Given the description of an element on the screen output the (x, y) to click on. 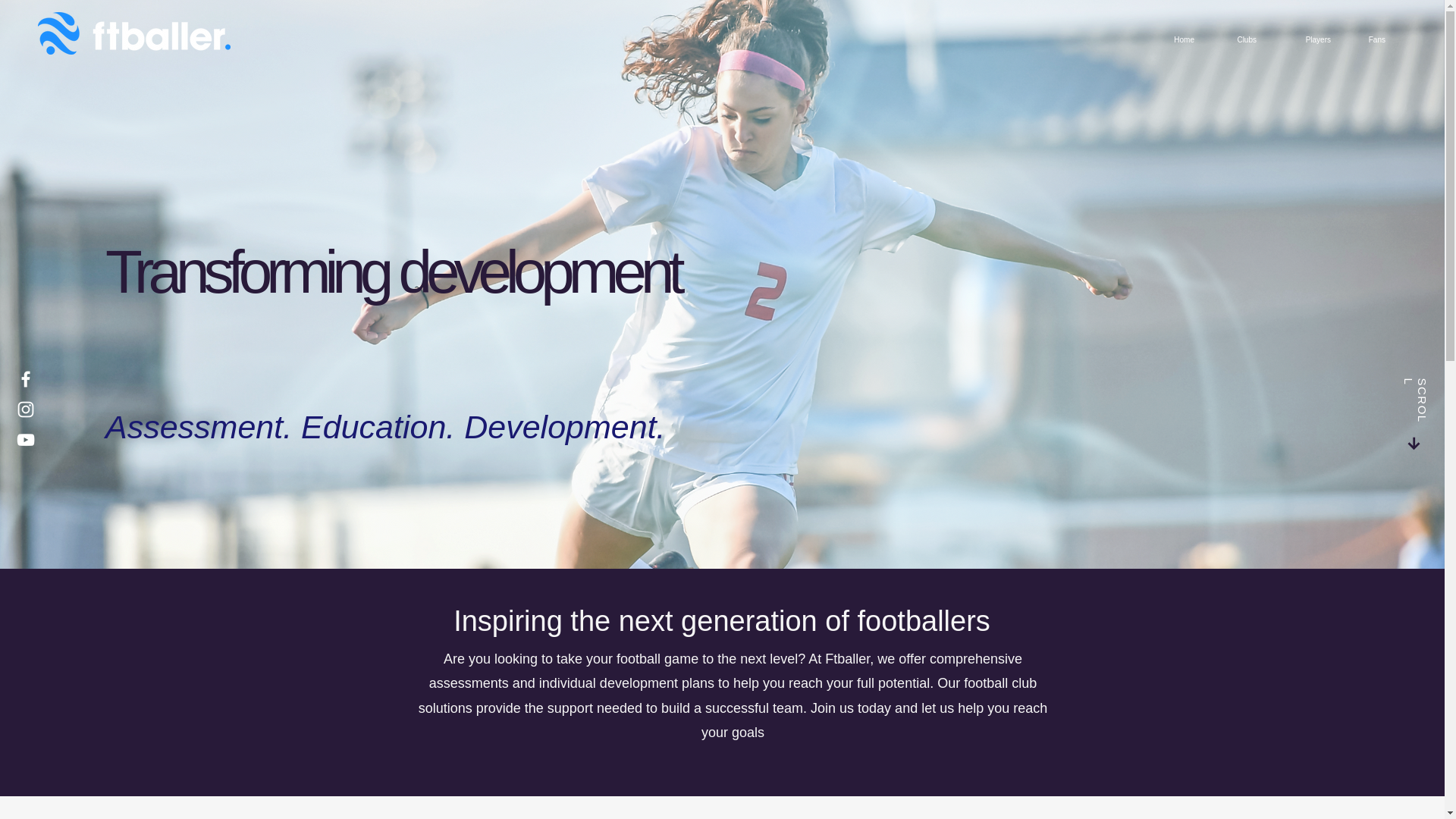
Home (1176, 39)
Players (1305, 39)
Clubs (1236, 39)
Fans (1369, 39)
